Given the description of an element on the screen output the (x, y) to click on. 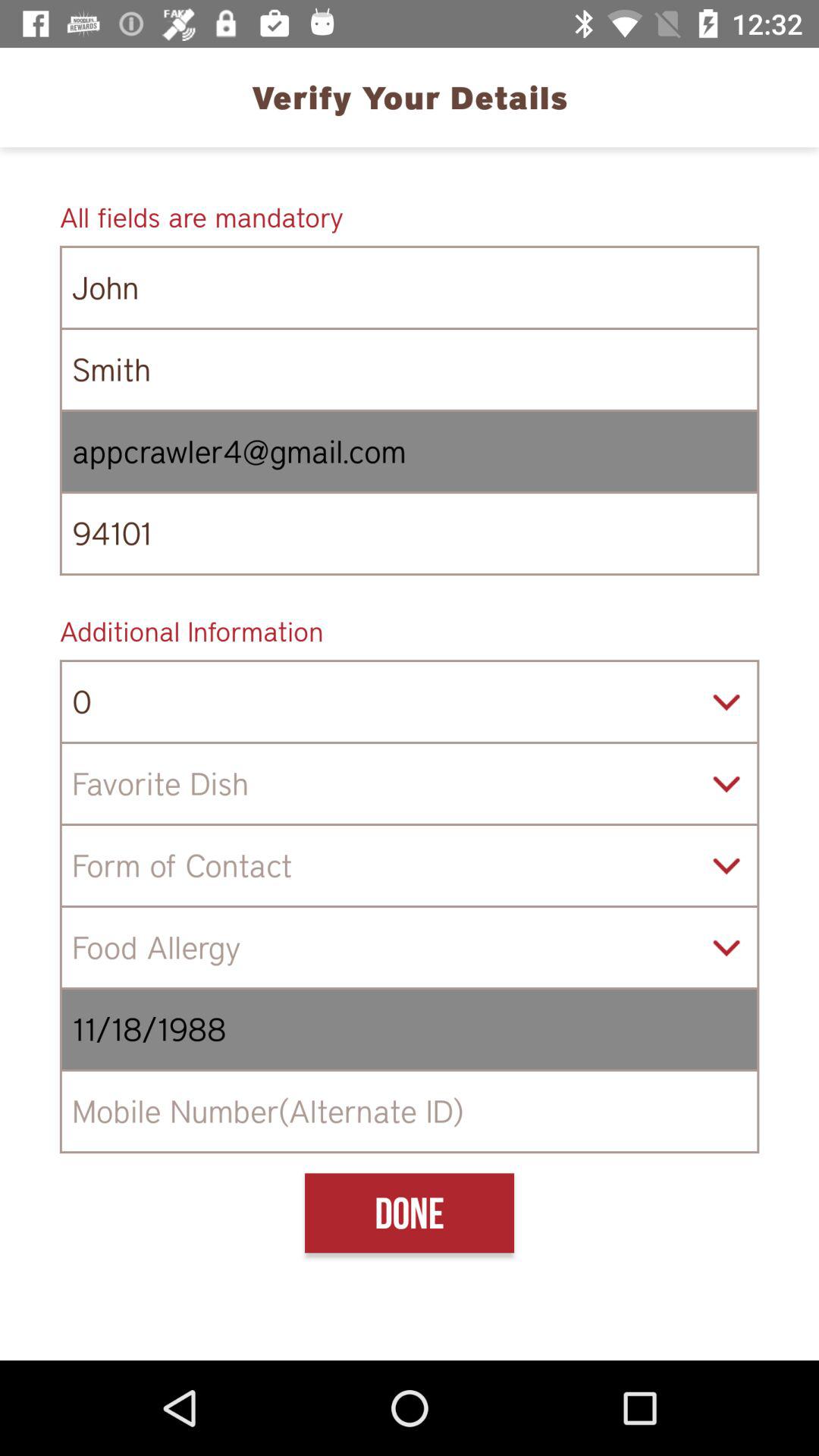
enter form of contact (409, 865)
